Given the description of an element on the screen output the (x, y) to click on. 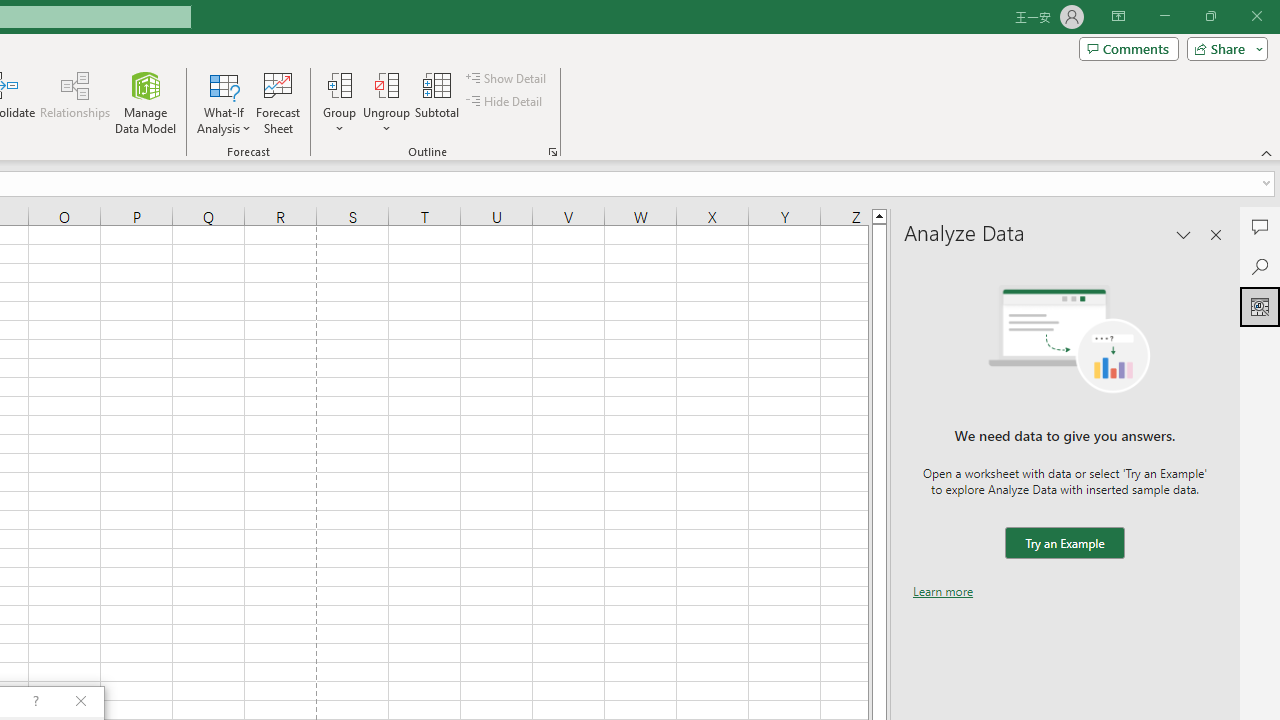
Relationships (75, 102)
Group... (339, 84)
Group... (339, 102)
Analyze Data (1260, 306)
What-If Analysis (223, 102)
Group and Outline Settings (552, 151)
Task Pane Options (1183, 234)
Forecast Sheet (278, 102)
Hide Detail (505, 101)
Ungroup... (386, 84)
